Given the description of an element on the screen output the (x, y) to click on. 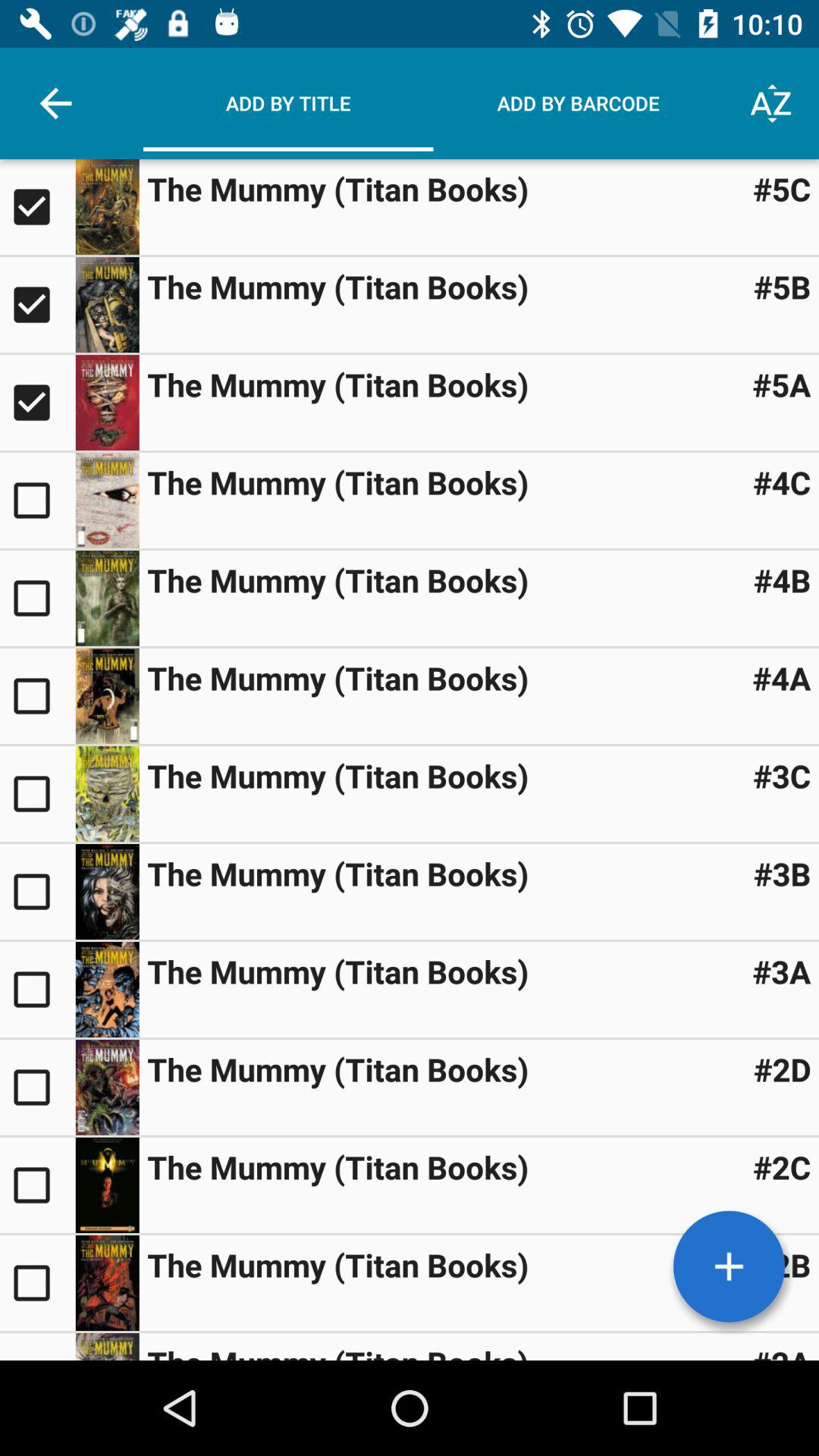
image button (107, 1087)
